Given the description of an element on the screen output the (x, y) to click on. 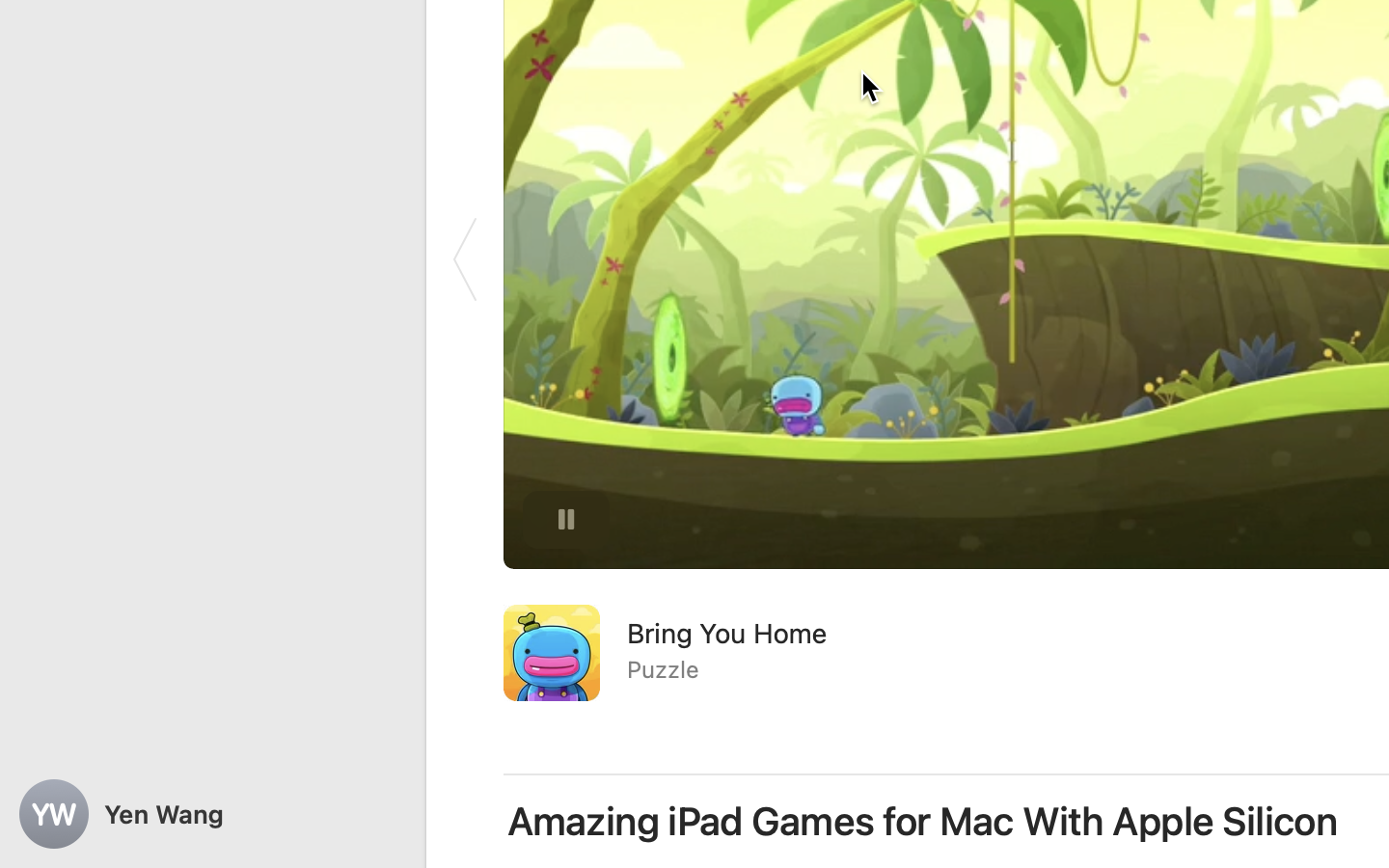
Yen Wang Element type: AXButton (212, 813)
Amazing iPad Games for Mac With Apple Silicon Element type: AXStaticText (922, 821)
